Given the description of an element on the screen output the (x, y) to click on. 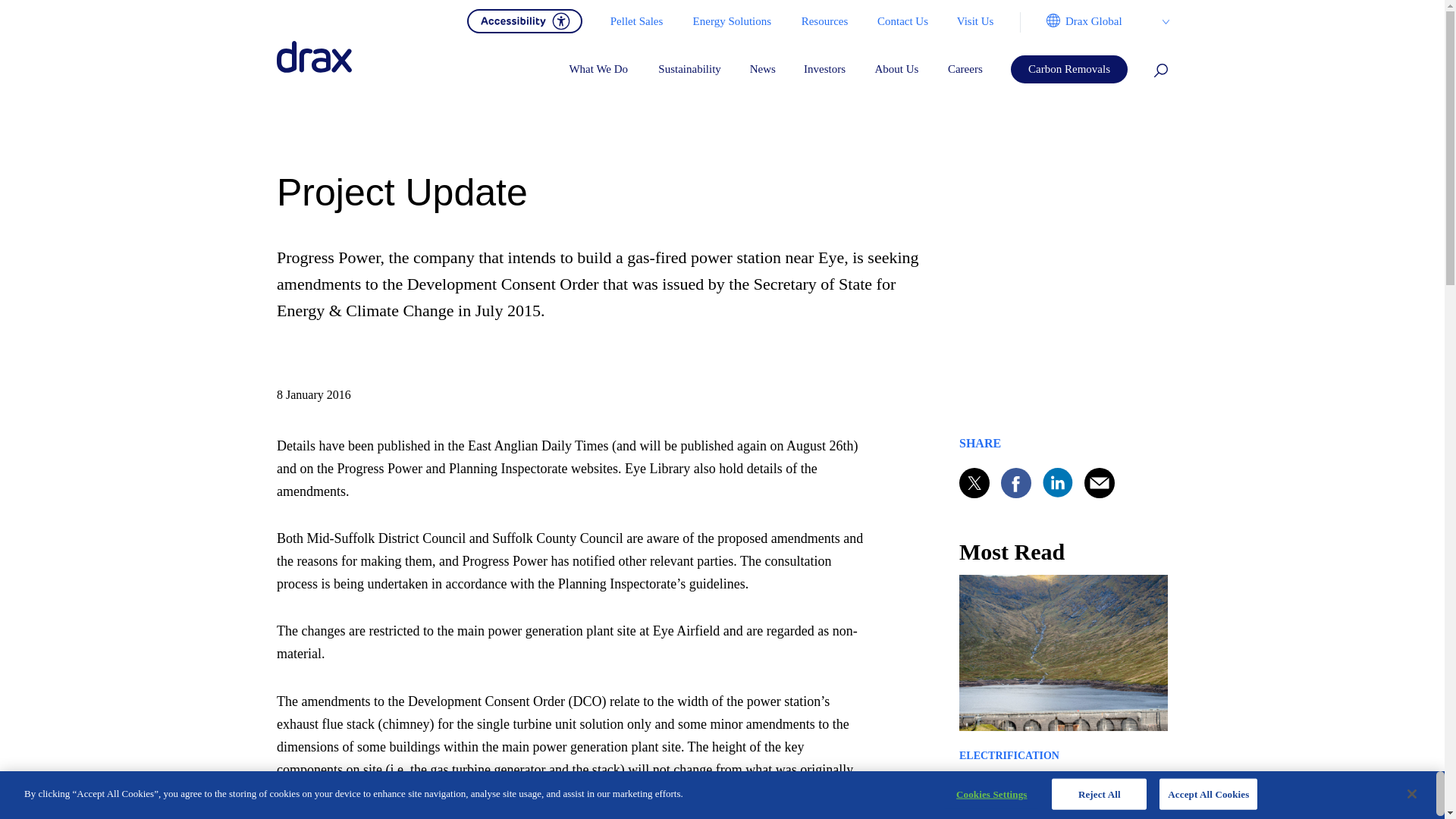
X (974, 482)
Energy Solutions (732, 20)
Contact Us (901, 20)
Visit Us (974, 20)
Email (1099, 482)
LinkedIn (1057, 482)
Accessibility Tools (524, 19)
Resources (823, 20)
Drax Global (1093, 20)
Pellet Sales (636, 20)
Facebook (1015, 482)
